Given the description of an element on the screen output the (x, y) to click on. 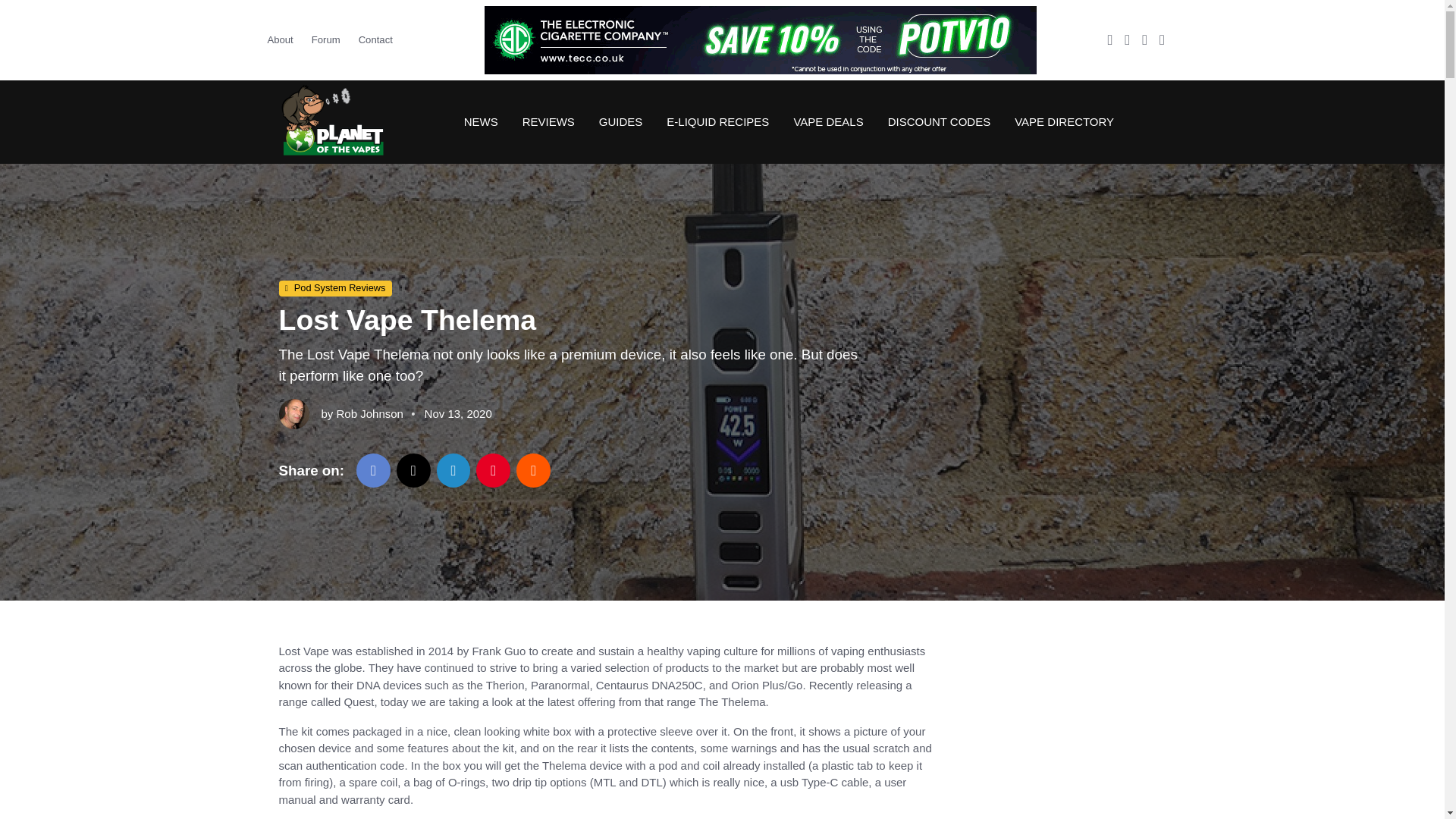
Forum (325, 39)
Pod System Reviews (335, 288)
Contact (375, 39)
About (283, 39)
REVIEWS (548, 121)
E-LIQUID RECIPES (716, 121)
Rob Johnson (369, 413)
VAPE DIRECTORY (1058, 121)
NEWS (481, 121)
DISCOUNT CODES (939, 121)
